Given the description of an element on the screen output the (x, y) to click on. 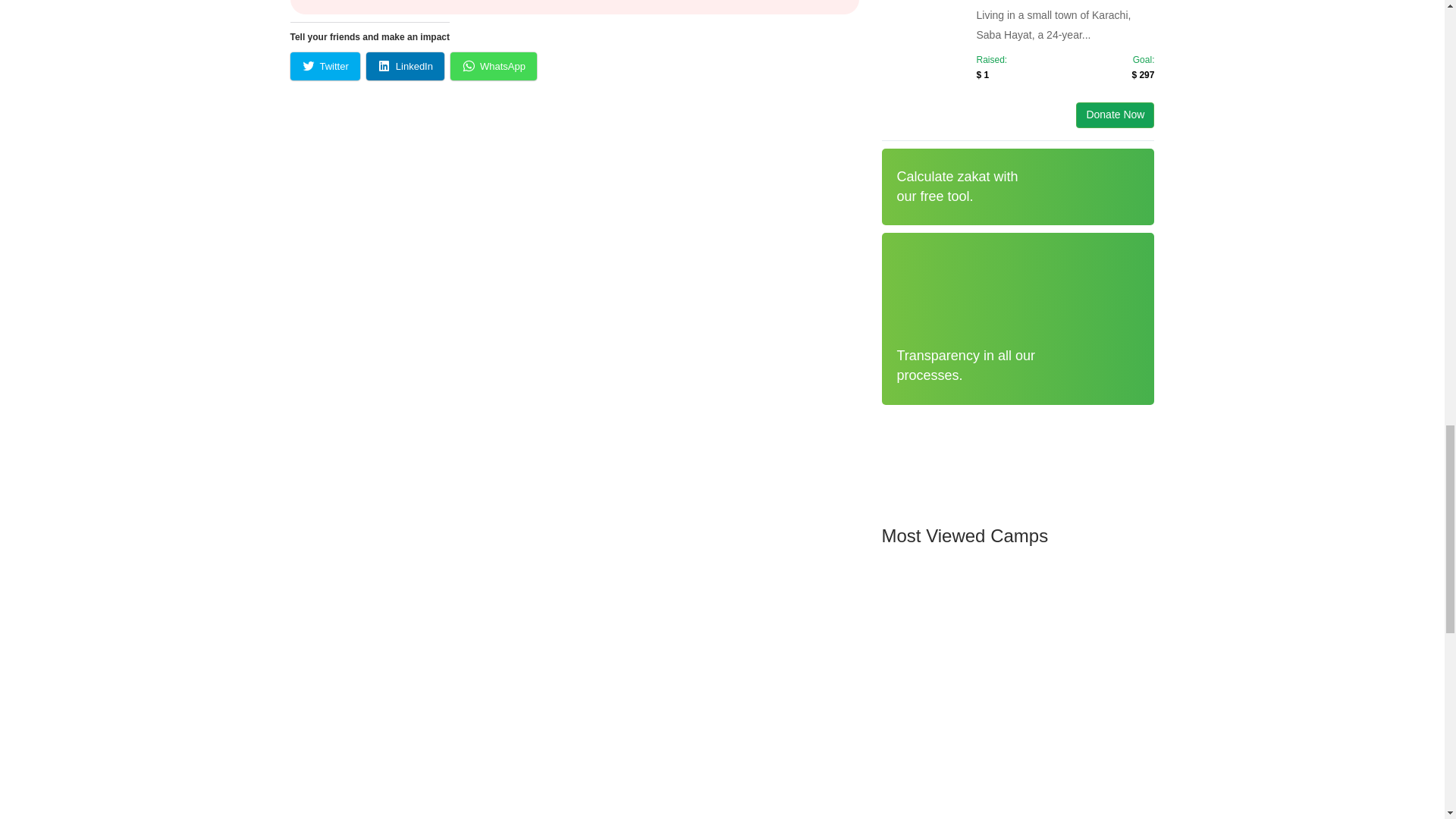
Click to share on WhatsApp (493, 66)
Click to share on Twitter (324, 66)
Twitter (324, 66)
WhatsApp (493, 66)
LinkedIn (405, 66)
Click to share on LinkedIn (405, 66)
